Given the description of an element on the screen output the (x, y) to click on. 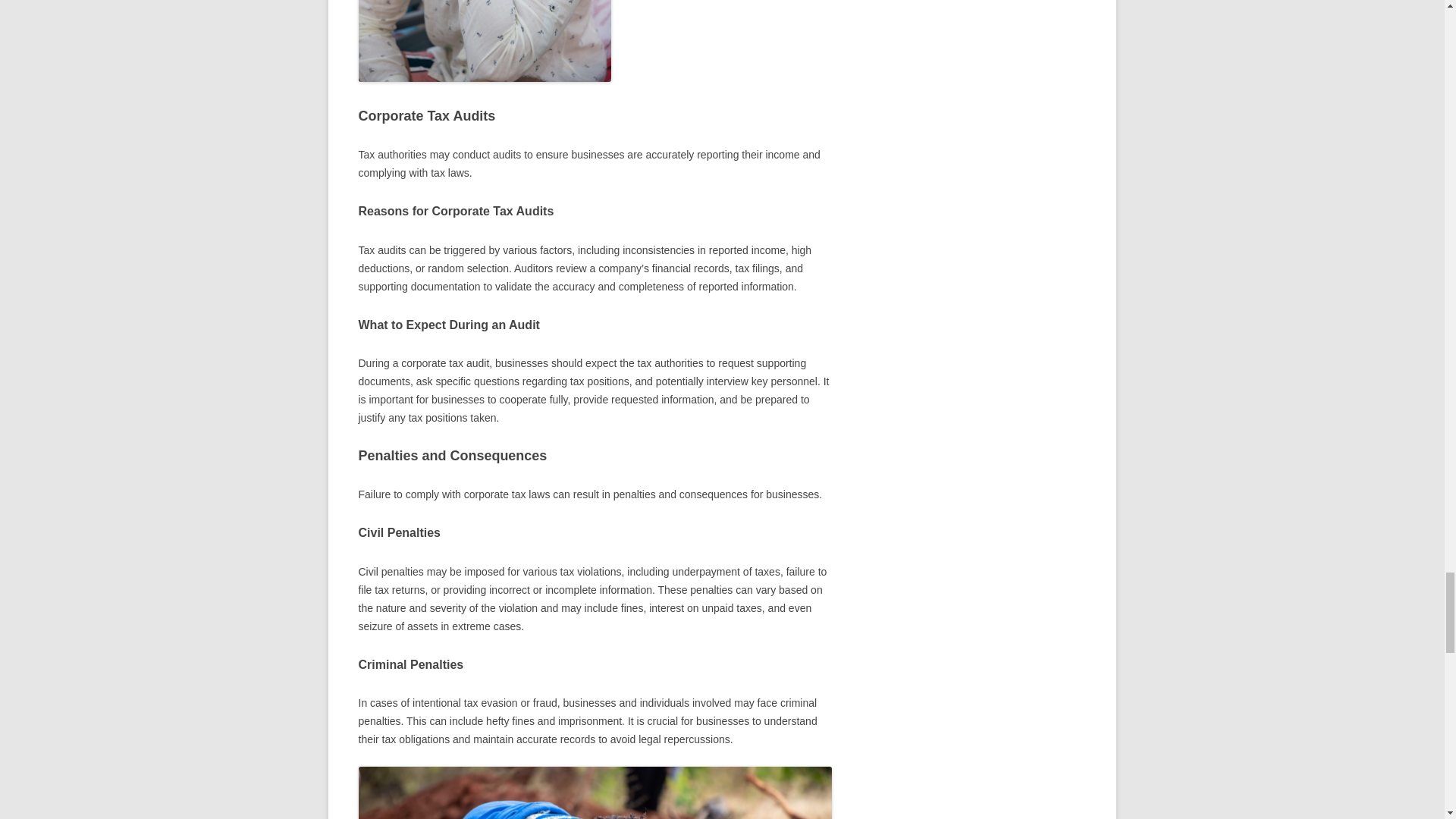
Corporate Tax (594, 792)
Corporate Tax (484, 40)
